Given the description of an element on the screen output the (x, y) to click on. 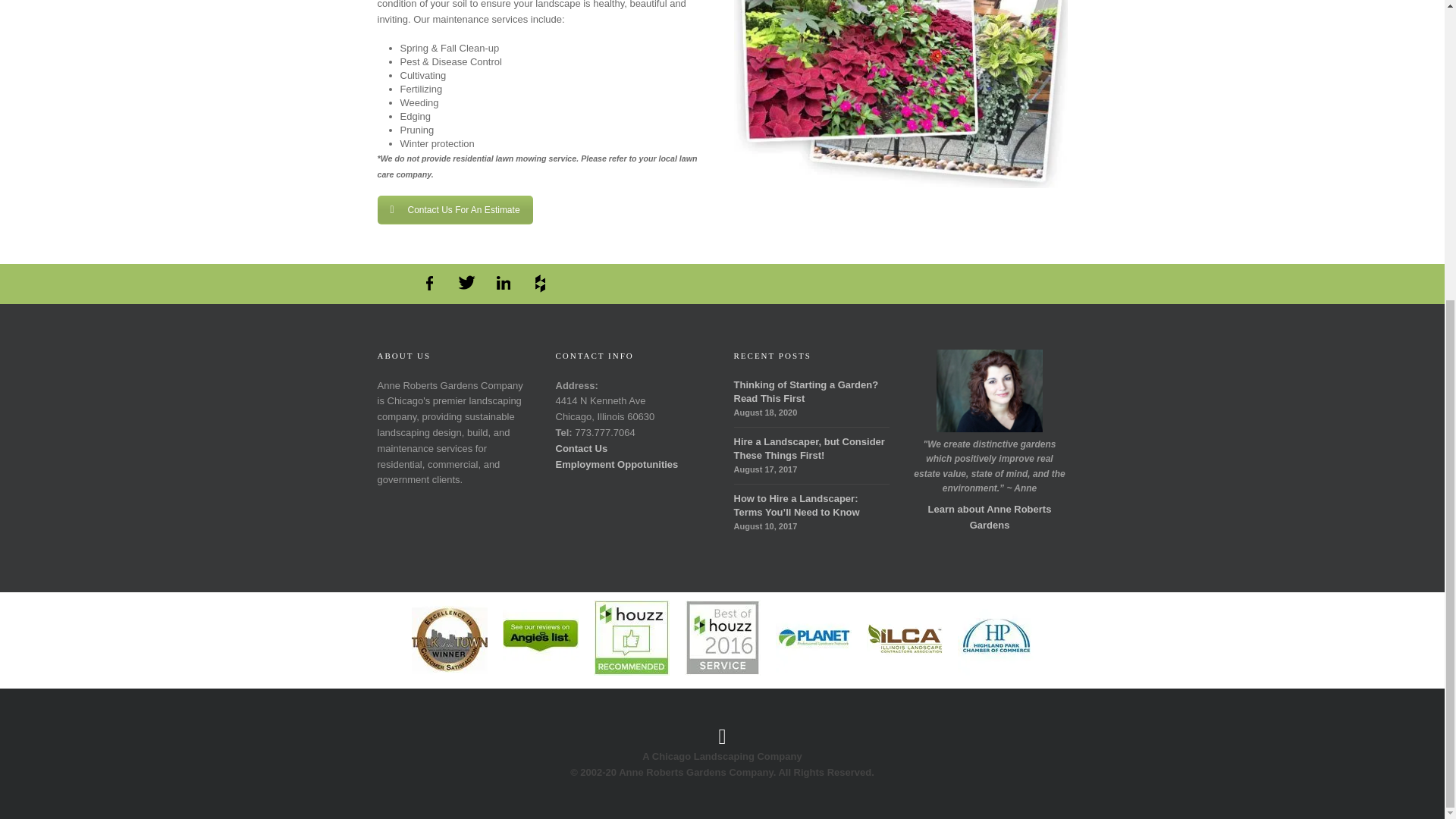
Contact Us For An Estimate (454, 209)
Contact Us For An Estimate (454, 209)
